Given the description of an element on the screen output the (x, y) to click on. 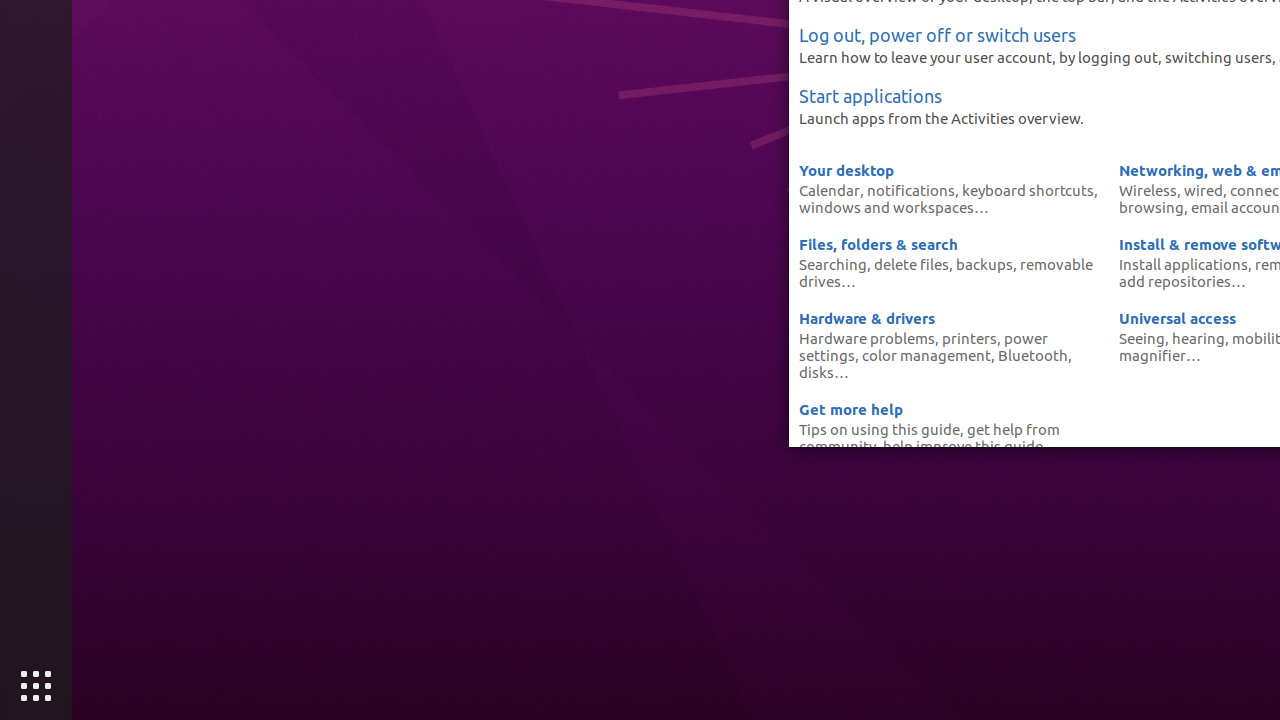
delete files Element type: link (911, 264)
Tips on using this guide Element type: link (879, 428)
Hardware & drivers Element type: link (867, 318)
Your desktop Element type: link (846, 170)
printers Element type: link (969, 338)
